Given the description of an element on the screen output the (x, y) to click on. 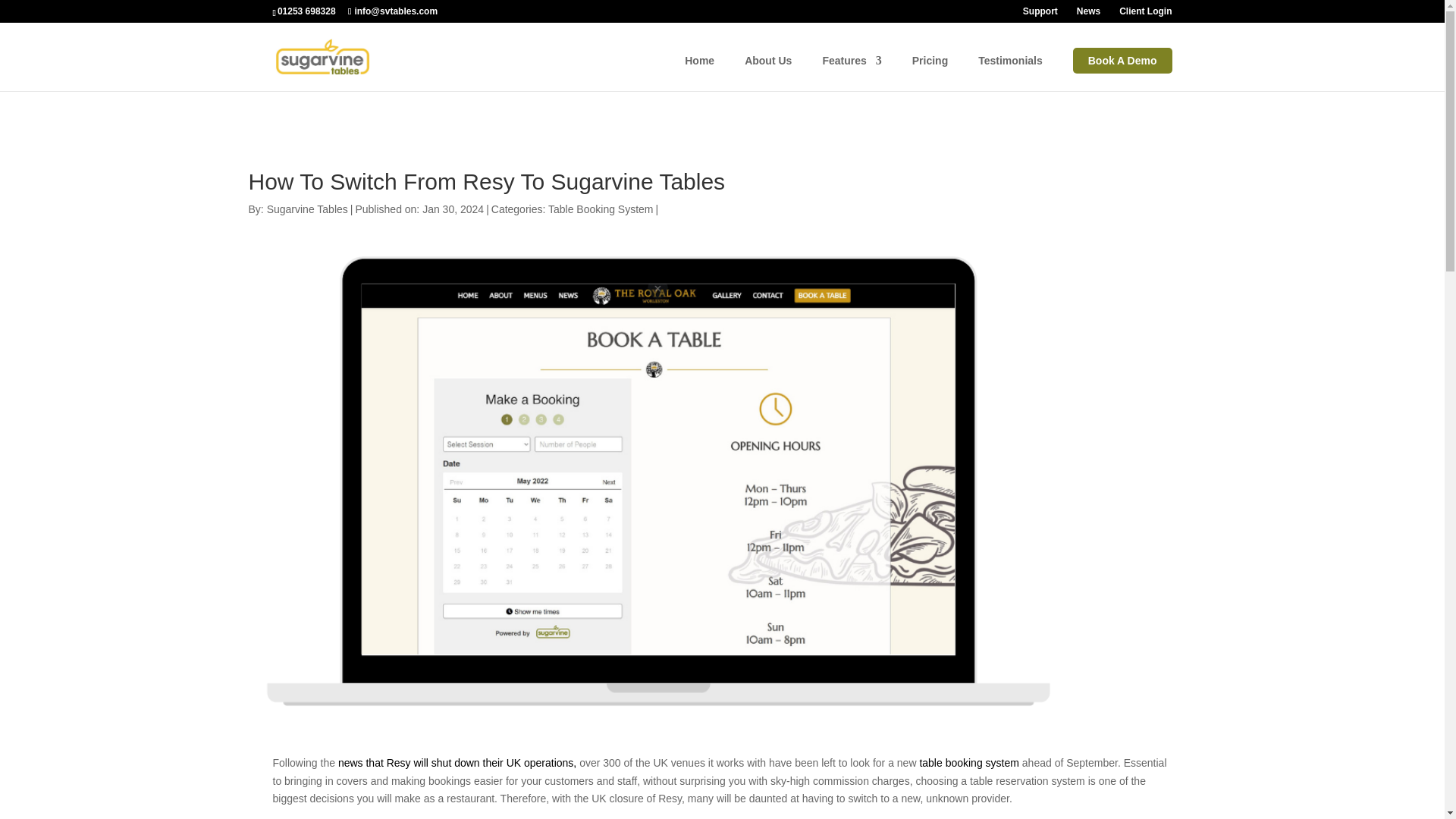
Posts by Sugarvine Tables (306, 209)
About Us (768, 72)
Sugarvine Tables (306, 209)
Client Login (1145, 14)
News (1088, 14)
Pricing (929, 72)
table booking system (968, 762)
Table Booking System (600, 209)
Support (1040, 14)
Testimonials (1010, 72)
